Given the description of an element on the screen output the (x, y) to click on. 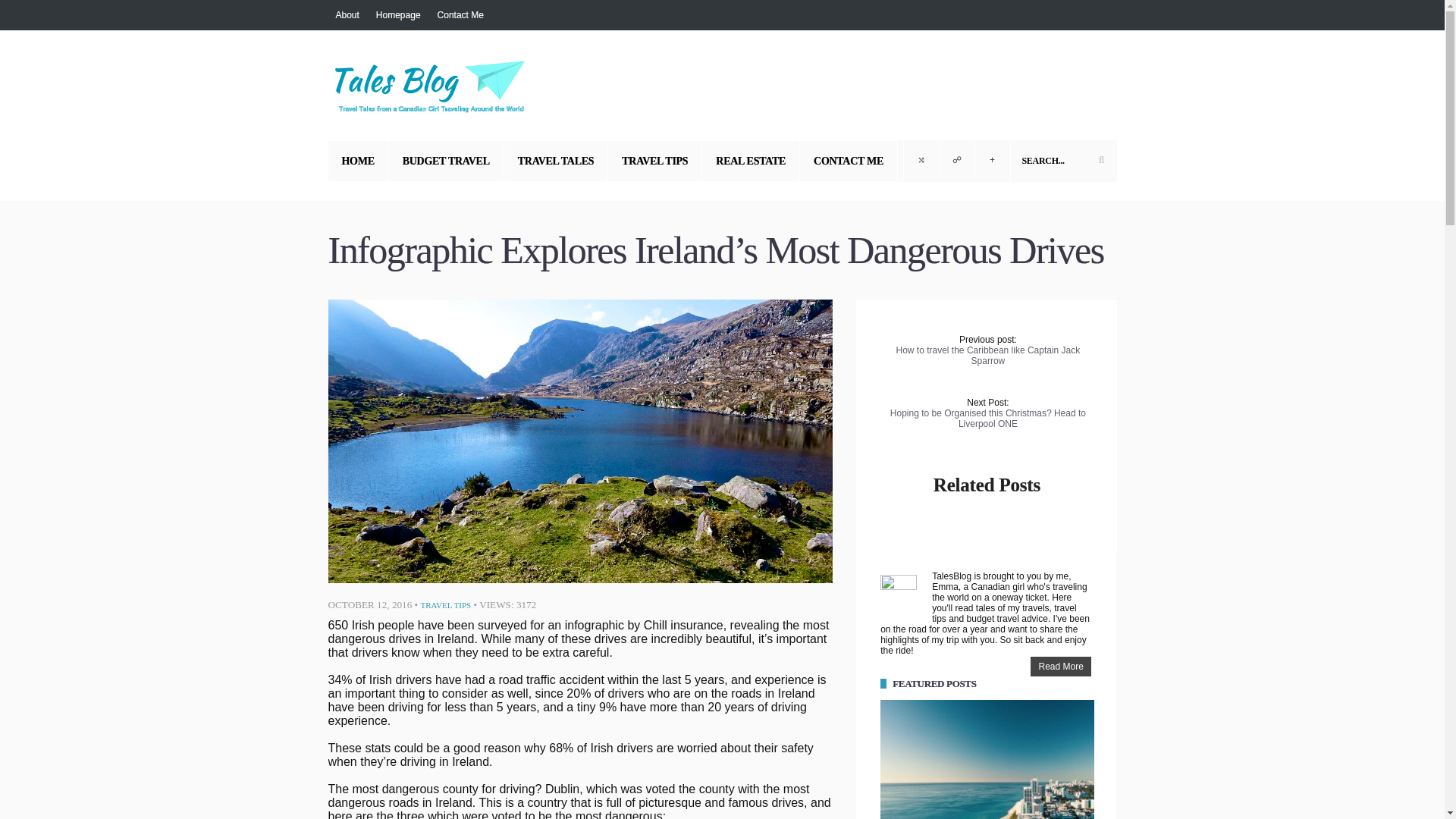
Read More (1060, 666)
CONTACT ME (848, 160)
TRAVEL TIPS (654, 160)
FEATURED POSTS (933, 683)
Contact Me (459, 15)
Search... (1063, 160)
REAL ESTATE (750, 160)
How to travel the Caribbean like Captain Jack Sparrow (988, 355)
About (348, 15)
Homepage (398, 15)
BUDGET TRAVEL (445, 160)
HOME (357, 160)
TRAVEL TIPS (445, 604)
TRAVEL TALES (555, 160)
Hoping to be Organised this Christmas? Head to Liverpool ONE (987, 418)
